Given the description of an element on the screen output the (x, y) to click on. 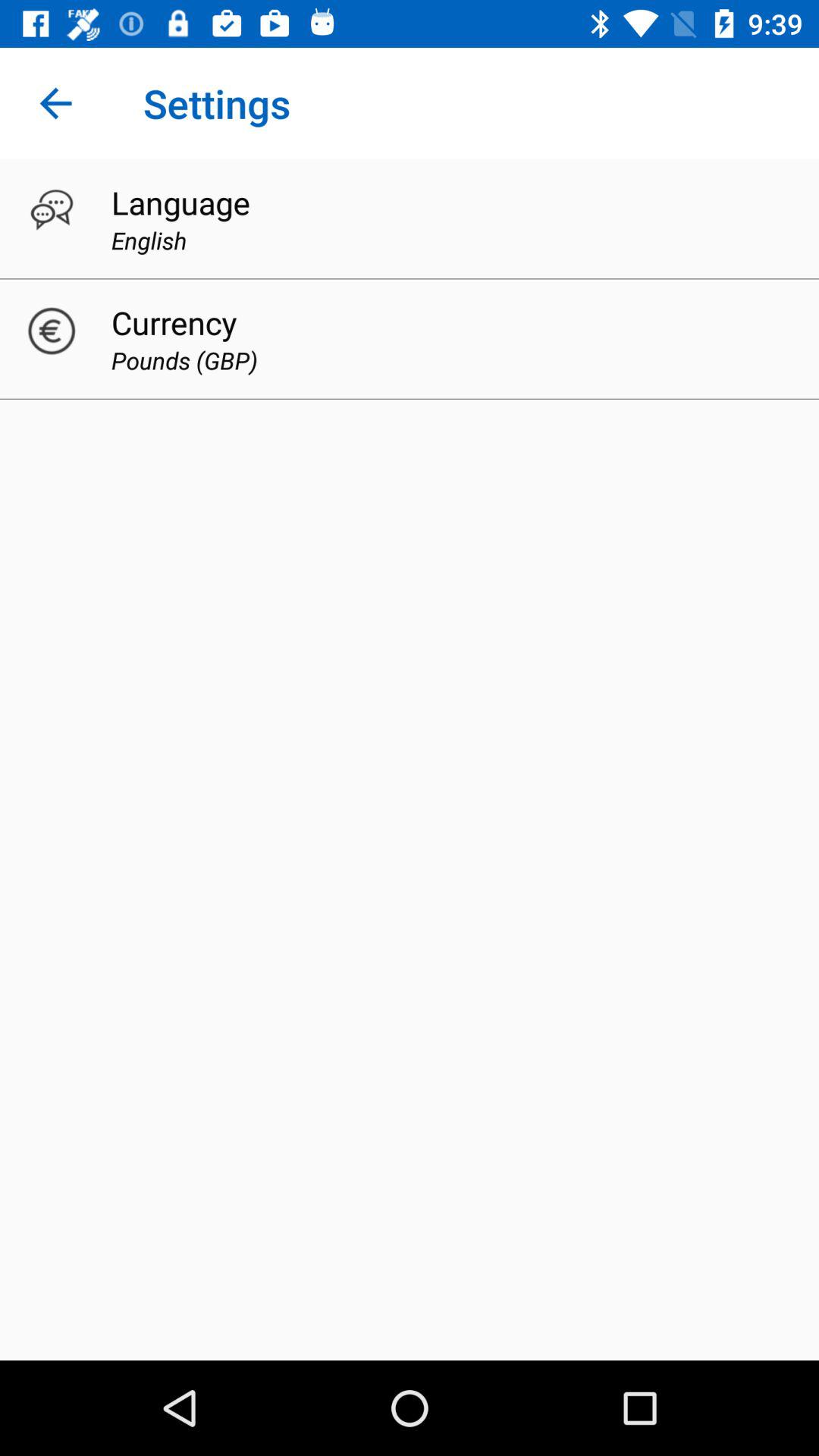
tap item next to settings app (55, 103)
